Given the description of an element on the screen output the (x, y) to click on. 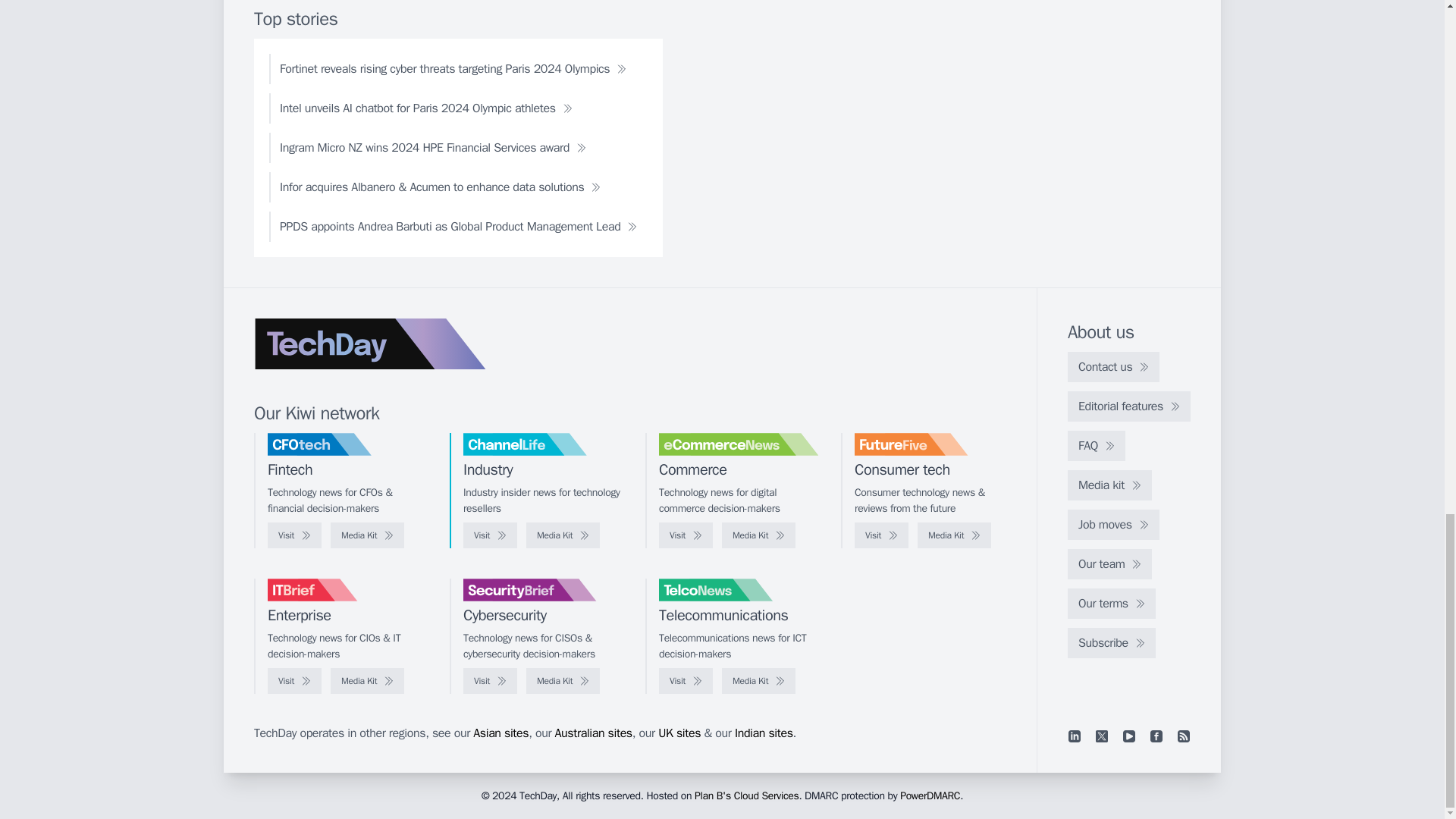
Intel unveils AI chatbot for Paris 2024 Olympic athletes (426, 108)
Media Kit (758, 534)
Visit (294, 680)
Visit (881, 534)
Media Kit (954, 534)
Visit (686, 534)
Ingram Micro NZ wins 2024 HPE Financial Services award (432, 147)
Media Kit (367, 534)
Media Kit (367, 680)
Visit (489, 680)
Visit (294, 534)
Media Kit (562, 680)
Visit (489, 534)
